Given the description of an element on the screen output the (x, y) to click on. 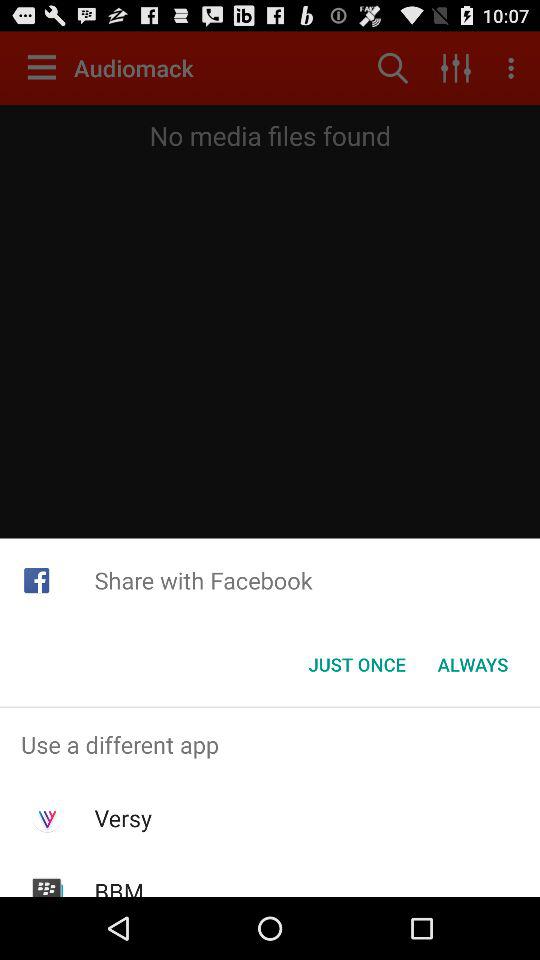
launch icon to the left of the always button (356, 664)
